Given the description of an element on the screen output the (x, y) to click on. 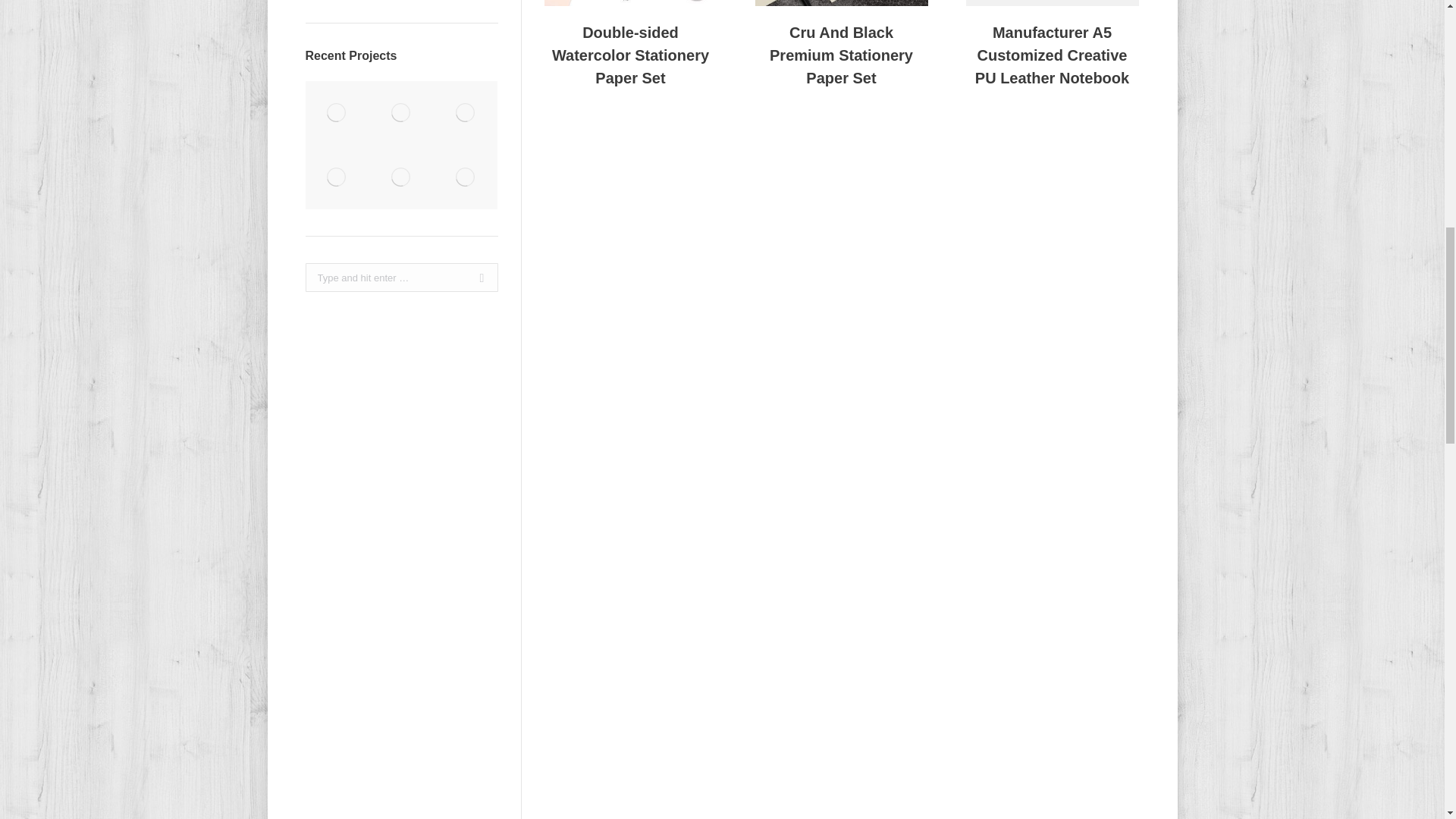
Go! (476, 276)
Double-sided Watercolor Stationery Paper Set (630, 55)
Go! (476, 276)
Manufacturer A5 Customized Creative PU Leather Notebook (1052, 55)
Cru And Black Premium Stationery Paper Set (841, 55)
